Given the description of an element on the screen output the (x, y) to click on. 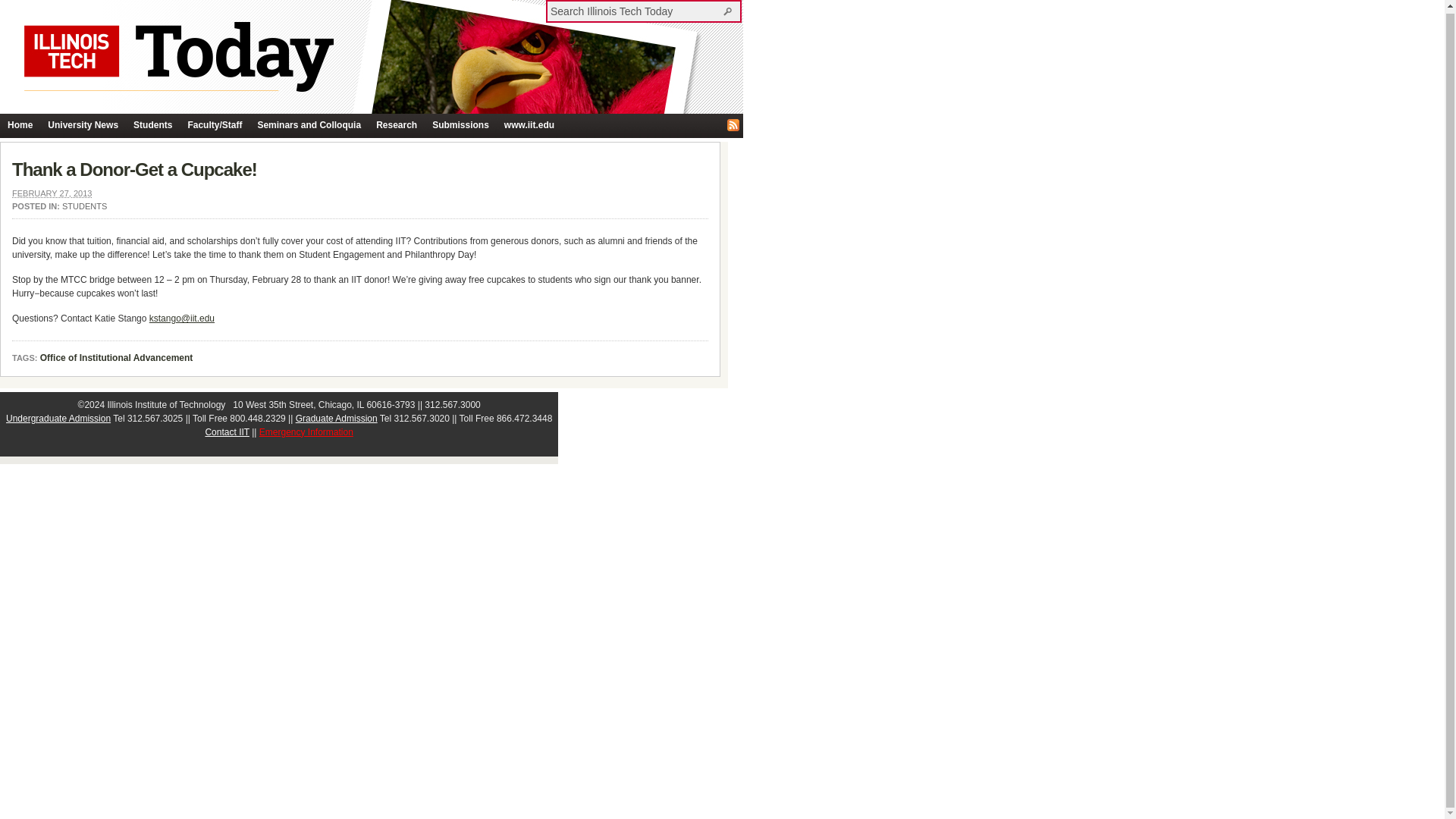
Search Illinois Tech Today (729, 10)
Home (20, 125)
Students (152, 125)
Illinois Tech Today RSS Feed (732, 124)
Contact IIT (226, 431)
Emergency Information (306, 431)
www.iit.edu (529, 125)
Research (396, 125)
University News (82, 125)
Search (729, 10)
